Given the description of an element on the screen output the (x, y) to click on. 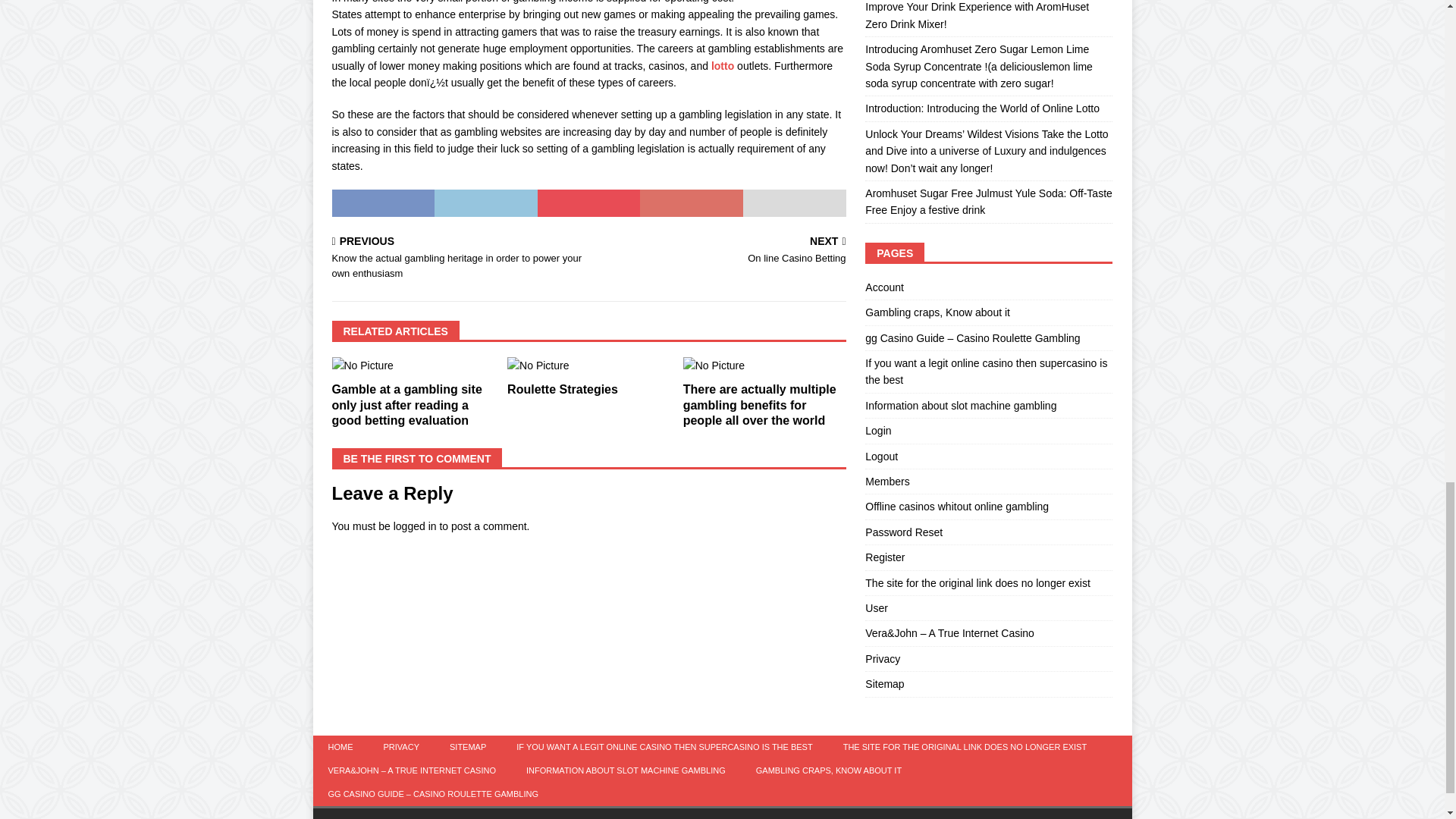
Roulette Strategies (561, 389)
lotto (720, 250)
